Given the description of an element on the screen output the (x, y) to click on. 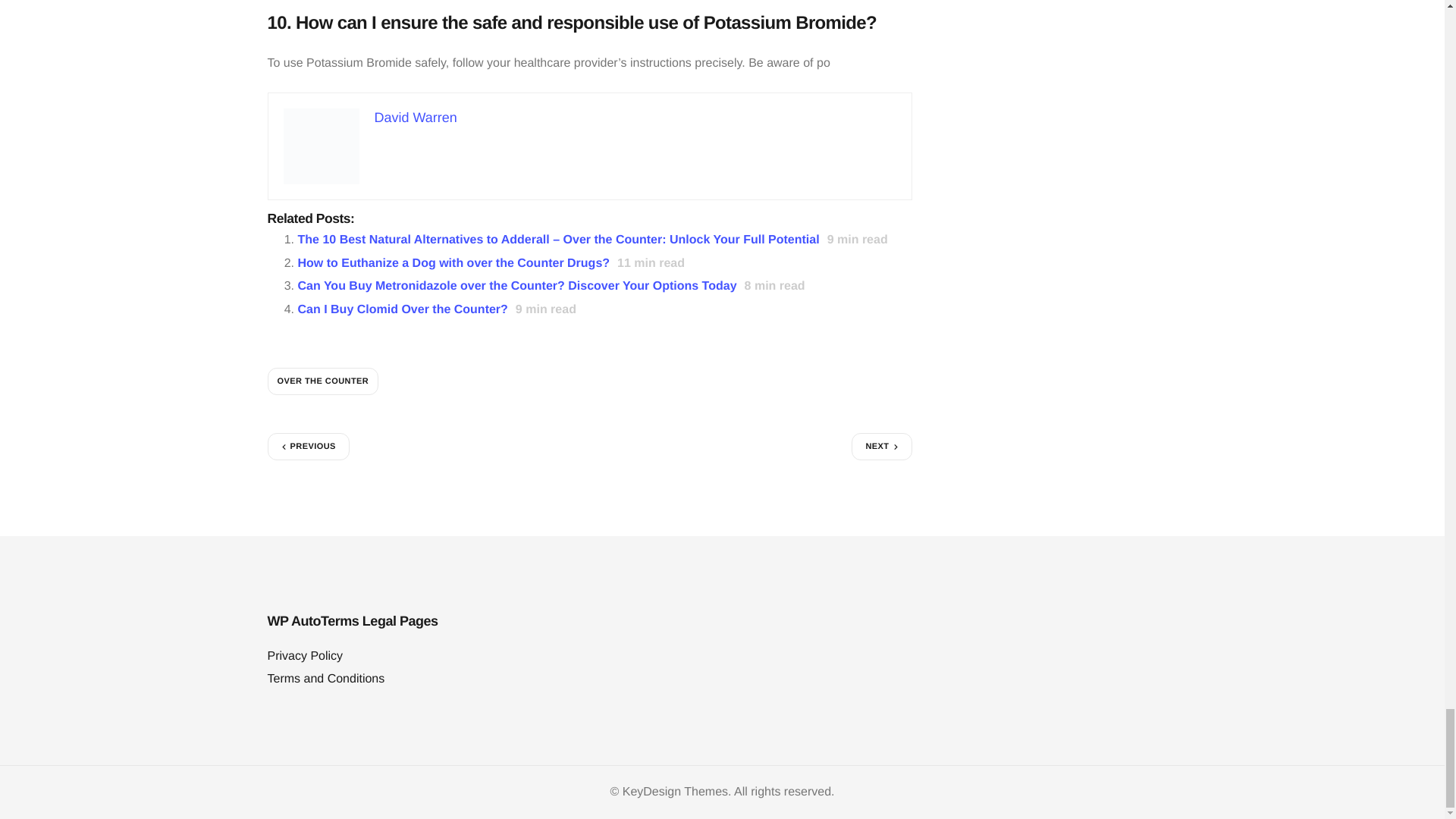
PREVIOUS (307, 446)
NEXT (881, 446)
David Warren (415, 117)
Can I Buy Clomid Over the Counter?9 min read (440, 309)
OVER THE COUNTER (322, 380)
